Given the description of an element on the screen output the (x, y) to click on. 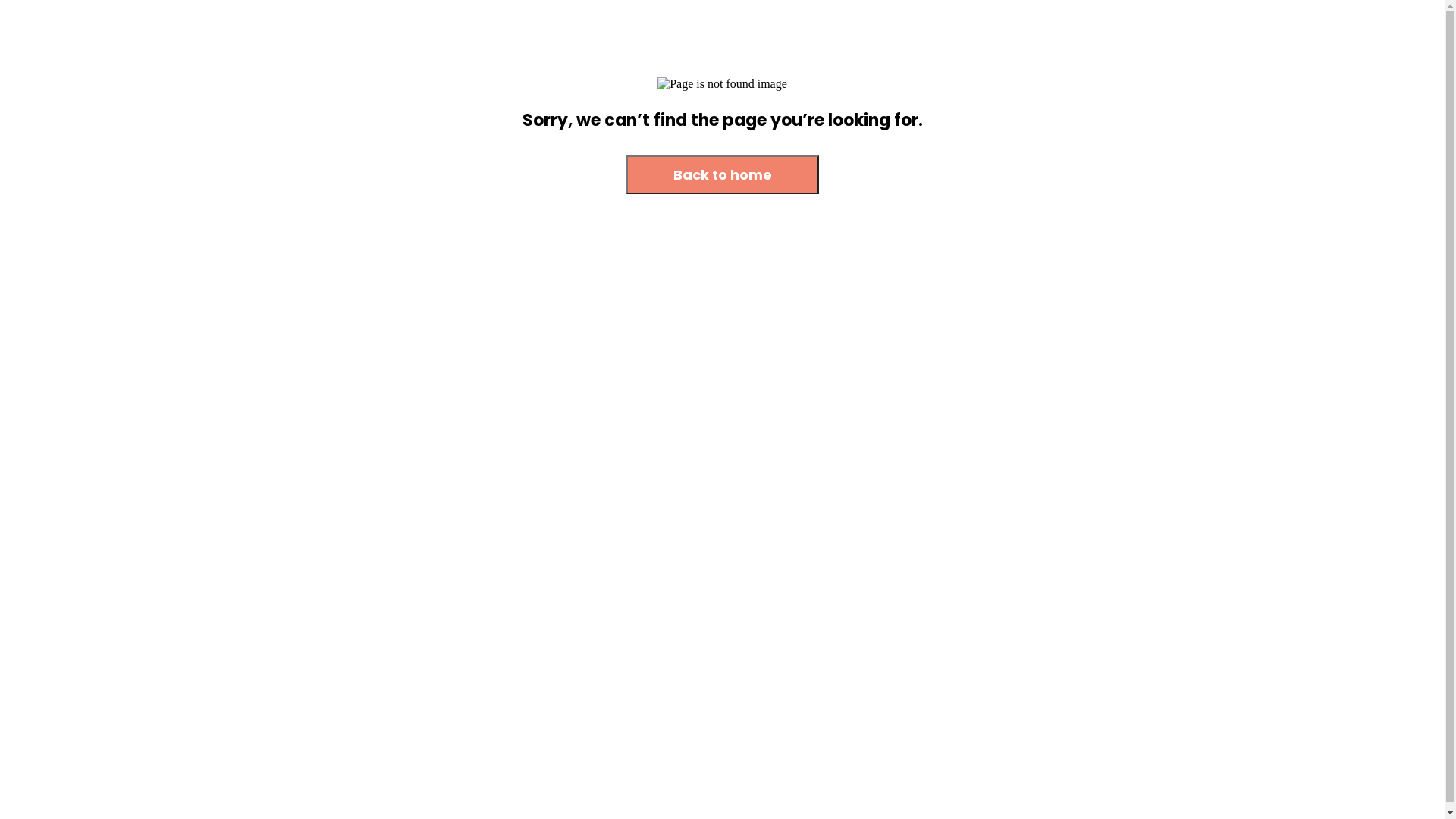
Back to home Element type: text (722, 175)
Back to home Element type: text (722, 174)
